Given the description of an element on the screen output the (x, y) to click on. 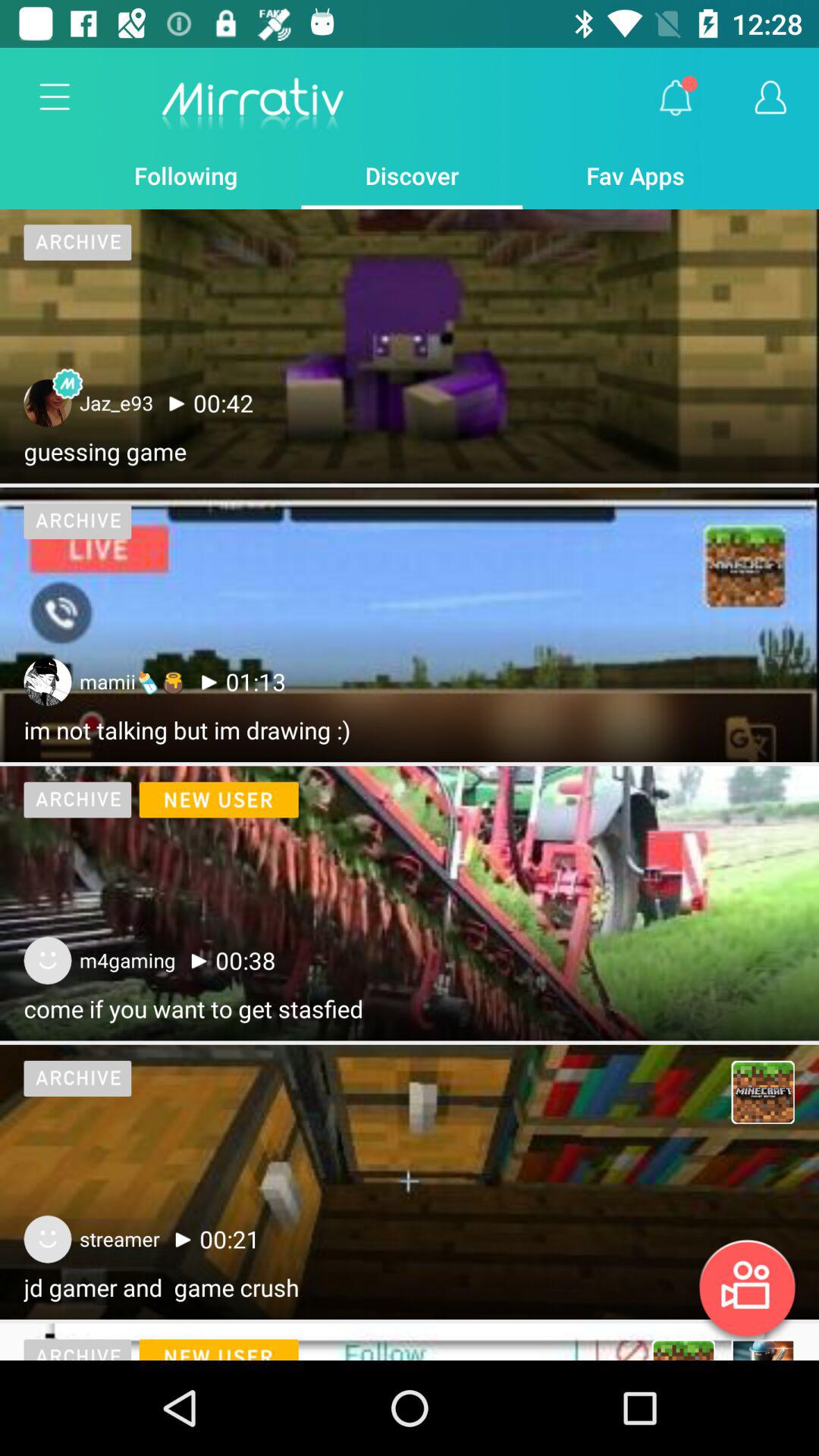
click item to the right of discover (675, 97)
